Given the description of an element on the screen output the (x, y) to click on. 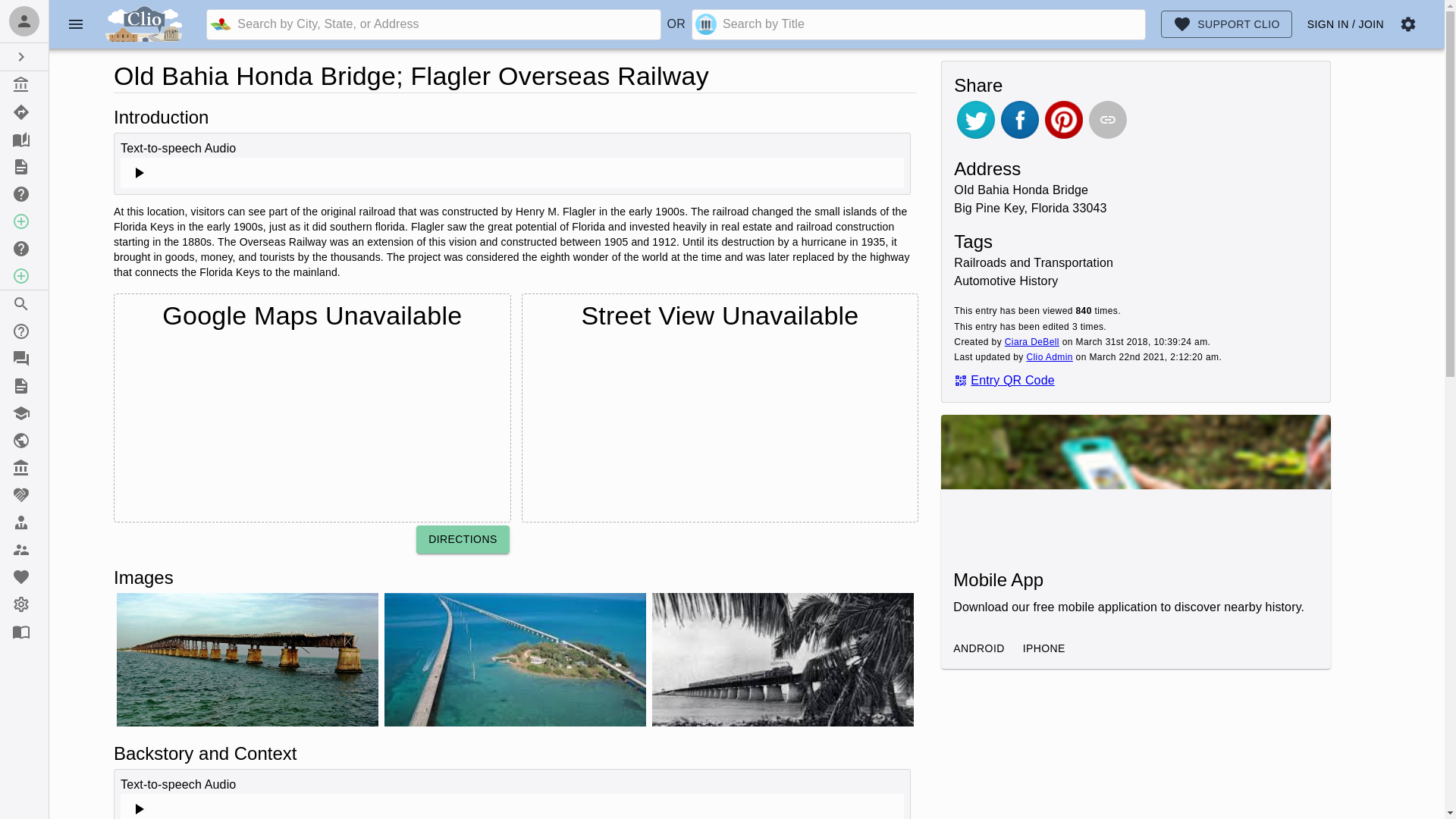
Clio for Historic Preservation (24, 440)
DIRECTIONS (462, 539)
Clio for Museums (24, 467)
Create a New Tour (24, 275)
Create a New Entry (24, 221)
Open Drawer (24, 56)
Internships (24, 522)
Tours (24, 112)
Individual Entries (24, 84)
How to Create a Tour (24, 248)
